Given the description of an element on the screen output the (x, y) to click on. 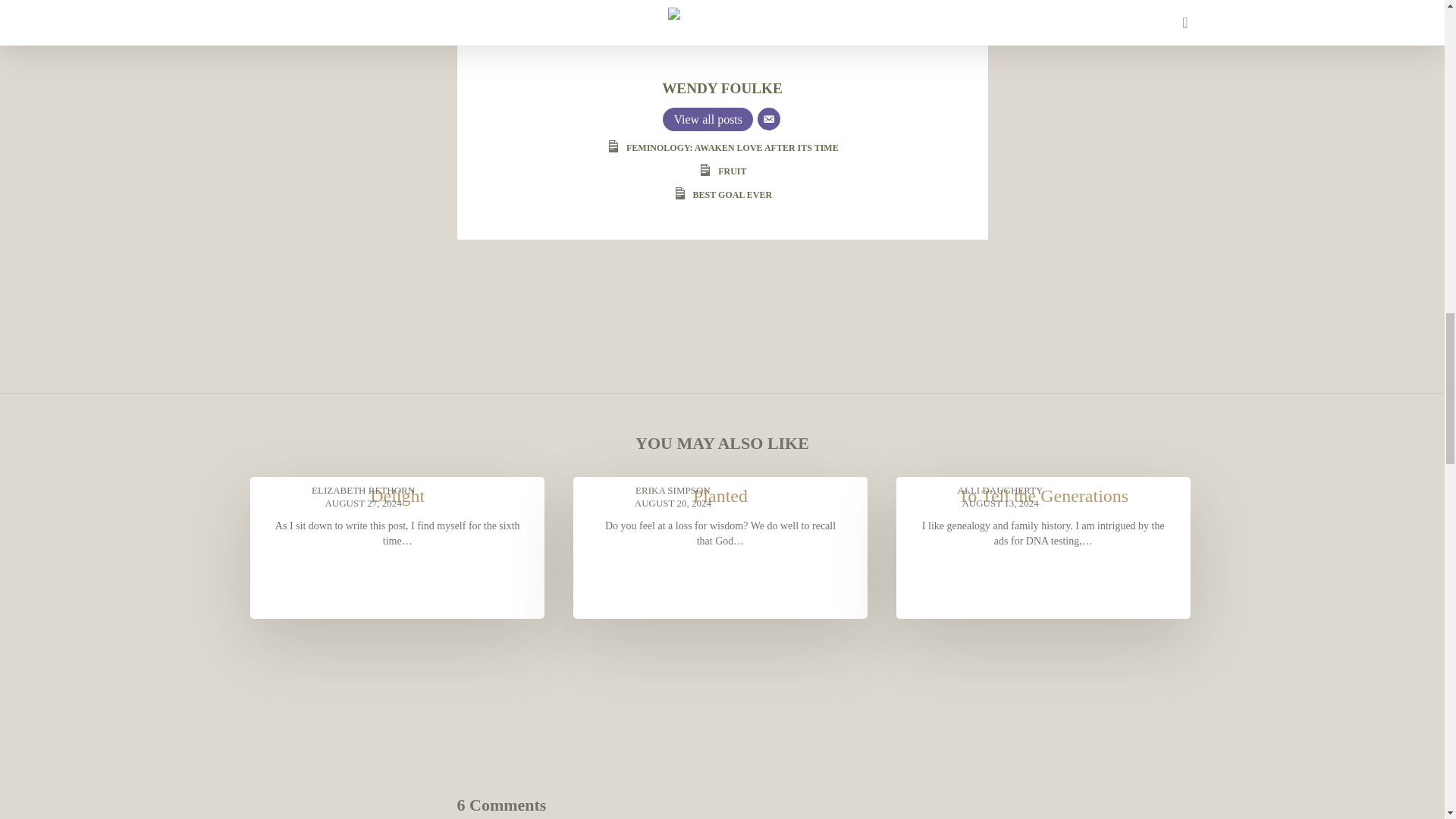
ERIKA SIMPSON (672, 489)
ALLI DAUGHERTY (1000, 489)
WENDY FOULKE (722, 88)
FEMINOLOGY: AWAKEN LOVE AFTER ITS TIME (732, 147)
View all posts (707, 119)
Wendy Foulke (722, 88)
FRUIT (731, 171)
BEST GOAL EVER (732, 194)
Best Goal Ever (732, 194)
View all posts (707, 119)
